Given the description of an element on the screen output the (x, y) to click on. 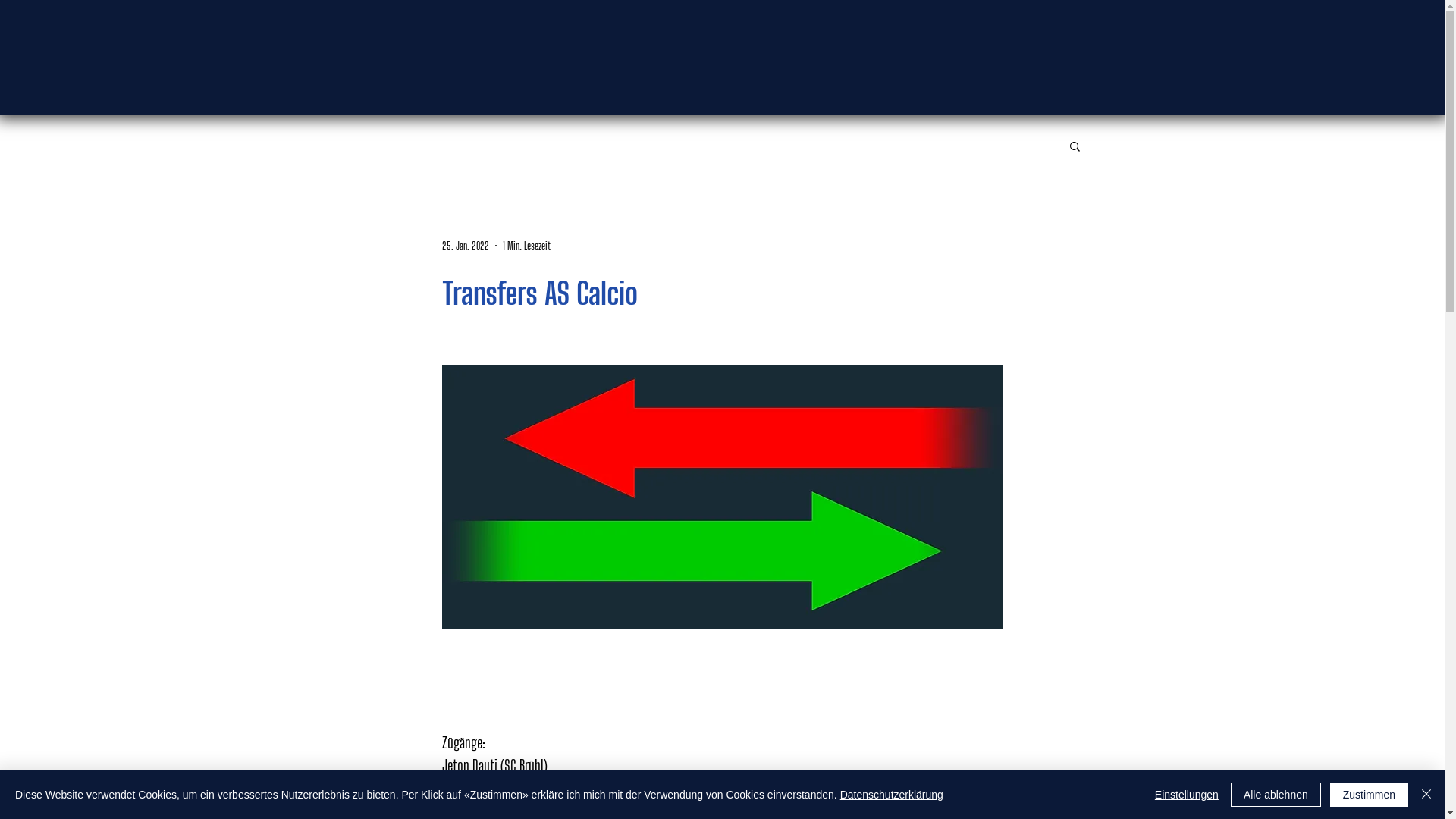
Zustimmen Element type: text (1369, 794)
Alle ablehnen Element type: text (1275, 794)
